Given the description of an element on the screen output the (x, y) to click on. 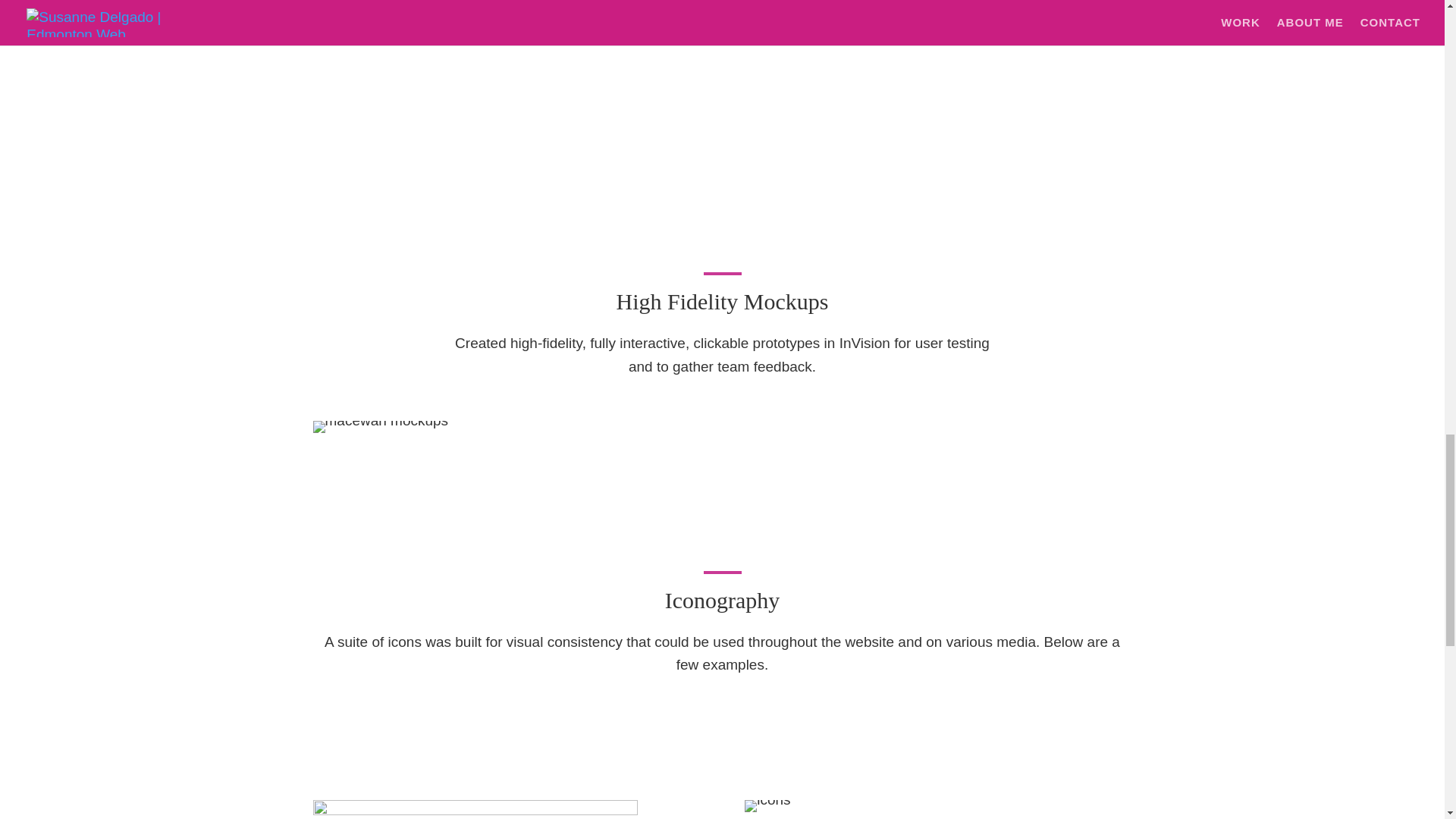
macewan-mockups (380, 426)
icons2 (767, 806)
icons-test (475, 809)
